Given the description of an element on the screen output the (x, y) to click on. 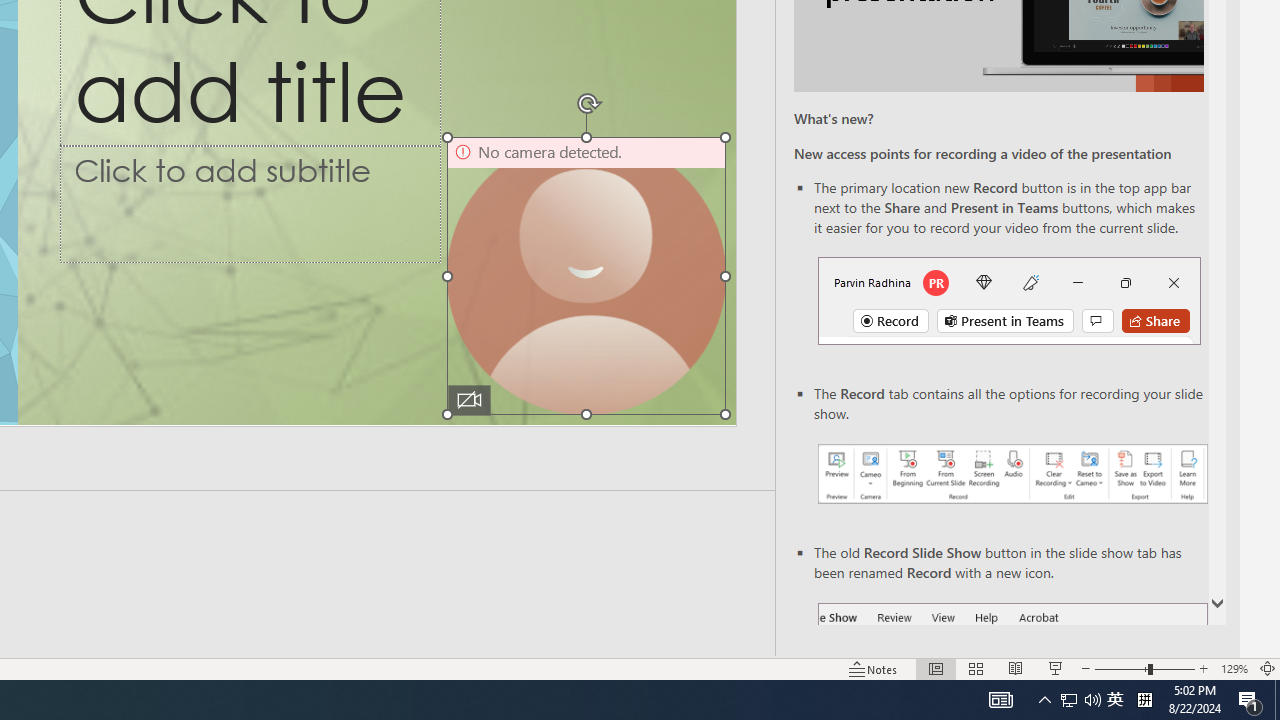
Record button in top bar (1008, 300)
Zoom 129% (1234, 668)
